Given the description of an element on the screen output the (x, y) to click on. 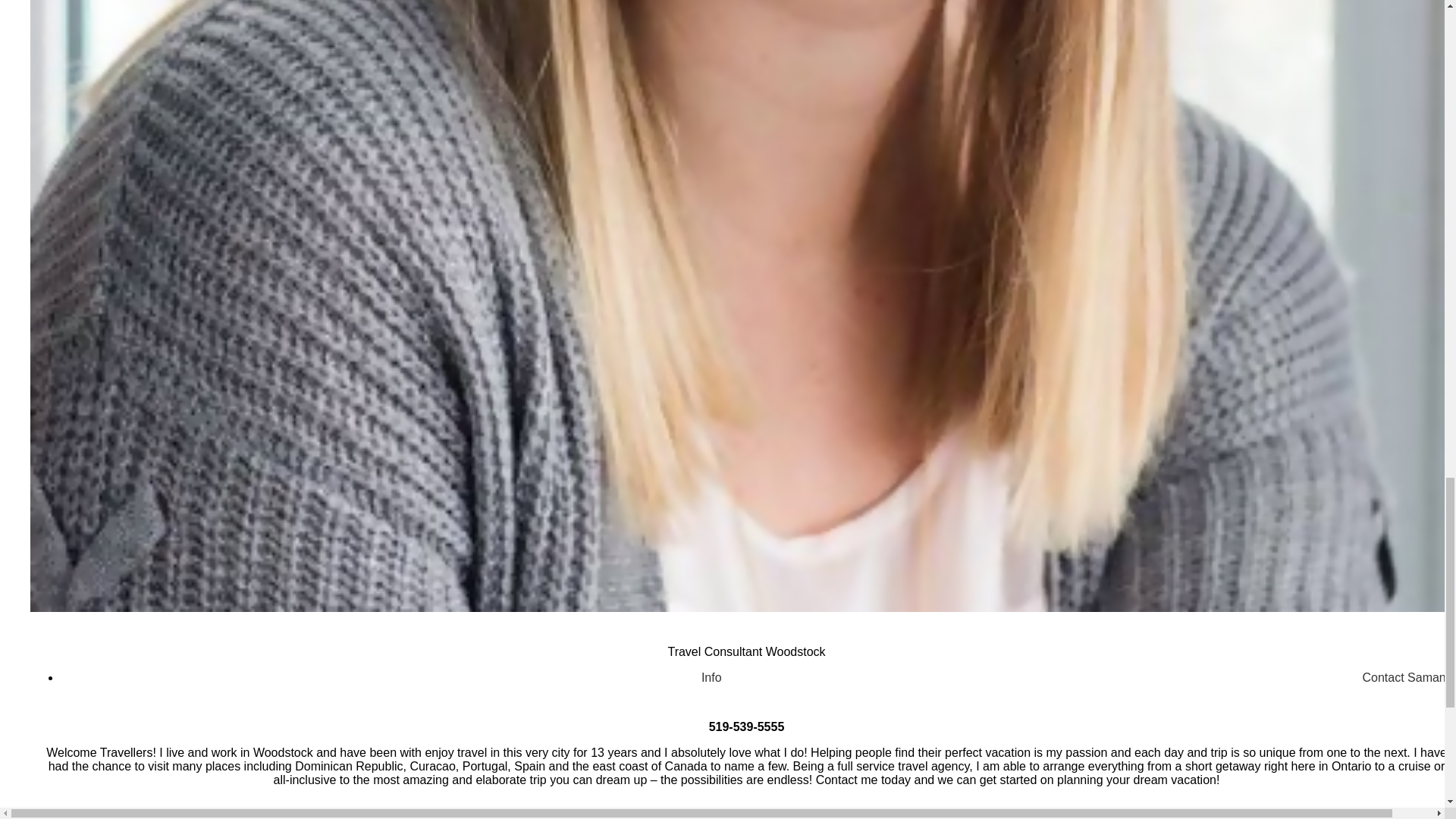
Info (711, 676)
Contact Samantha (1408, 677)
